Given the description of an element on the screen output the (x, y) to click on. 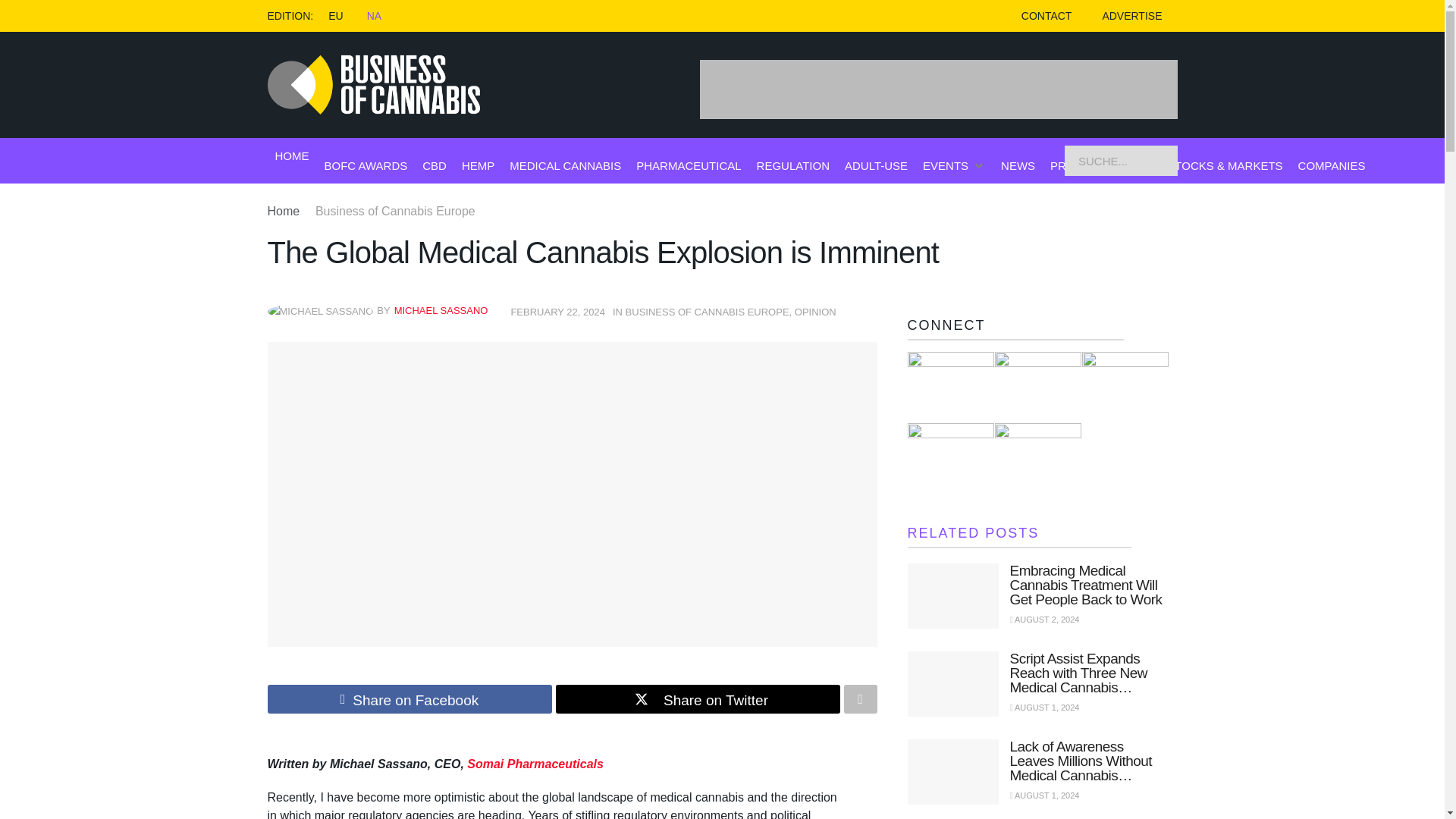
Home (282, 210)
CBD (434, 165)
CONTACT (1046, 15)
EVENTS (945, 165)
MICHAEL SASSANO (440, 310)
REGULATION (793, 165)
COMPANIES (1331, 165)
FEBRUARY 22, 2024 (558, 311)
Share on Twitter (697, 698)
HEMP (478, 165)
